Given the description of an element on the screen output the (x, y) to click on. 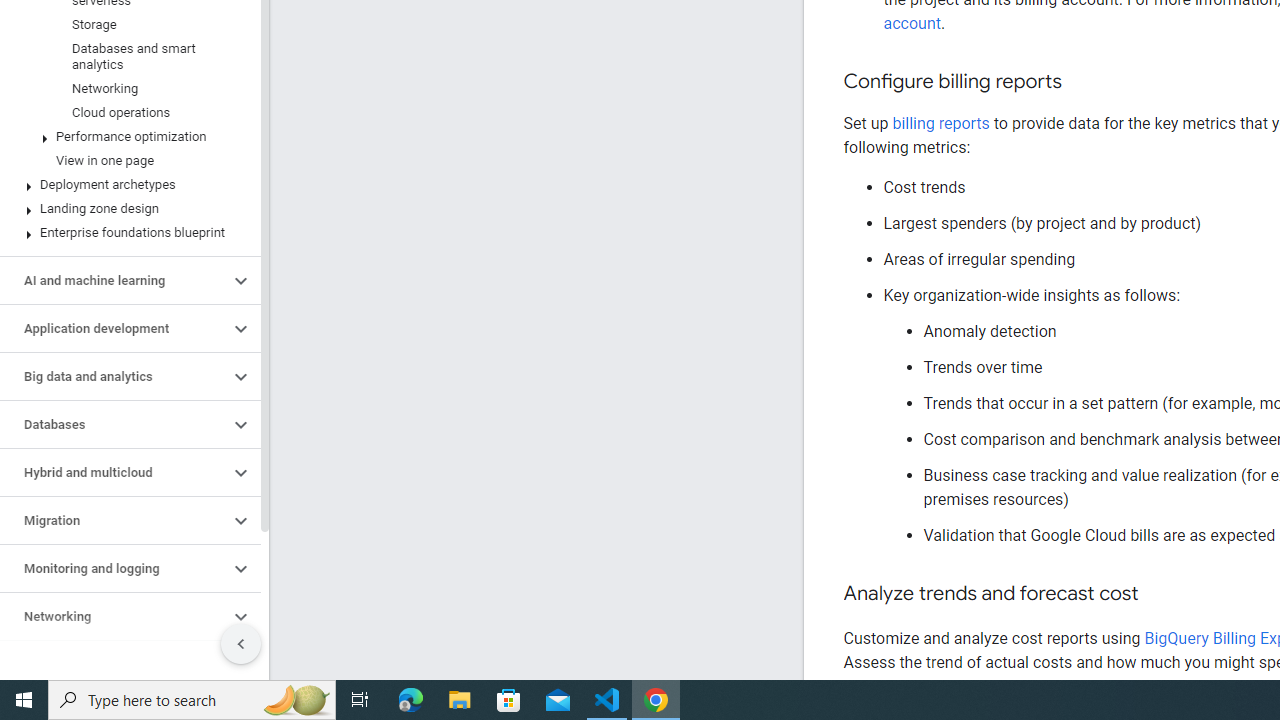
Enterprise foundations blueprint (126, 145)
Monitoring and logging (114, 481)
AI and machine learning (114, 193)
Hybrid and multicloud (114, 385)
billing reports (940, 123)
